Given the description of an element on the screen output the (x, y) to click on. 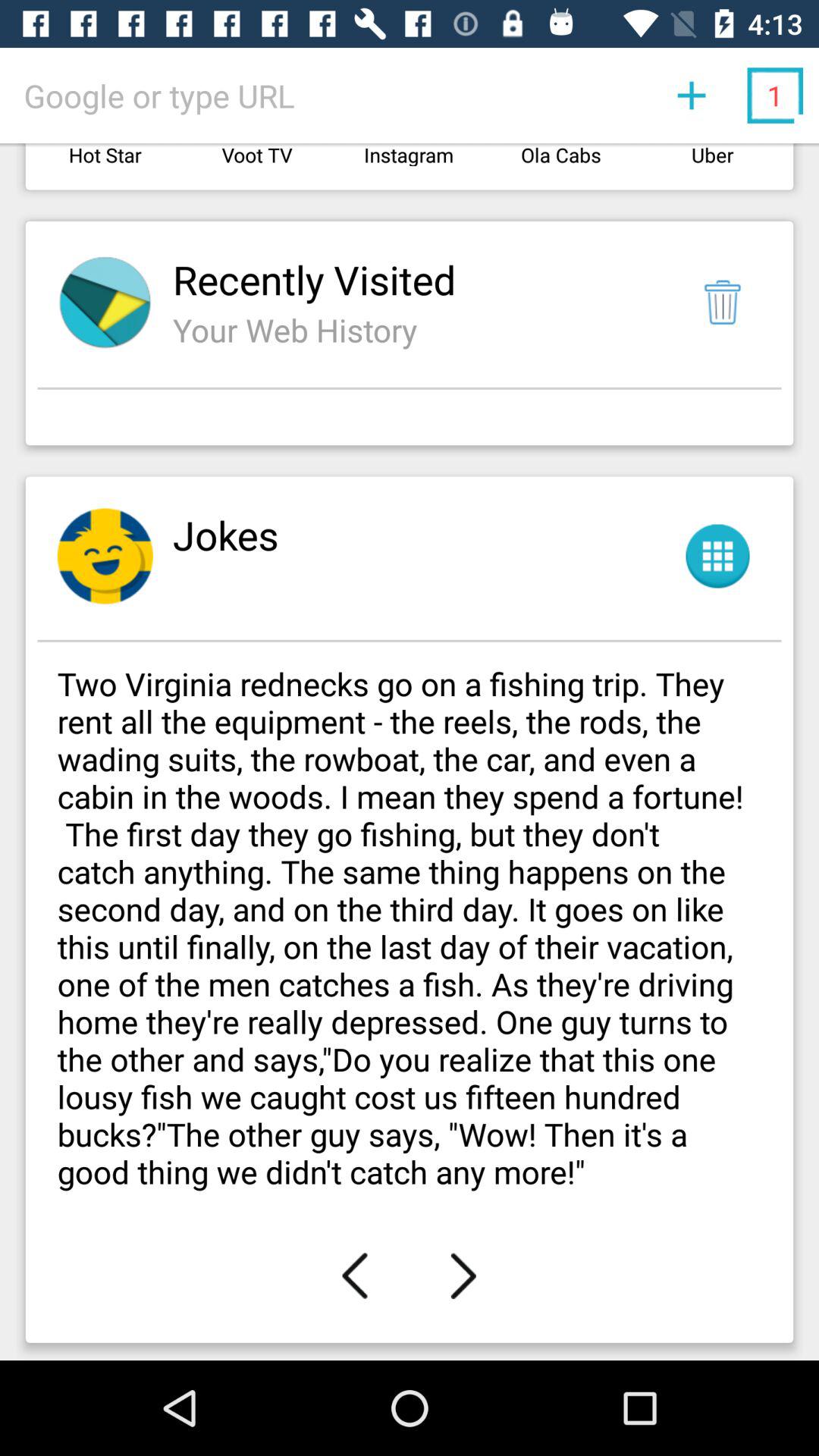
launch item next to the 1 icon (691, 95)
